Given the description of an element on the screen output the (x, y) to click on. 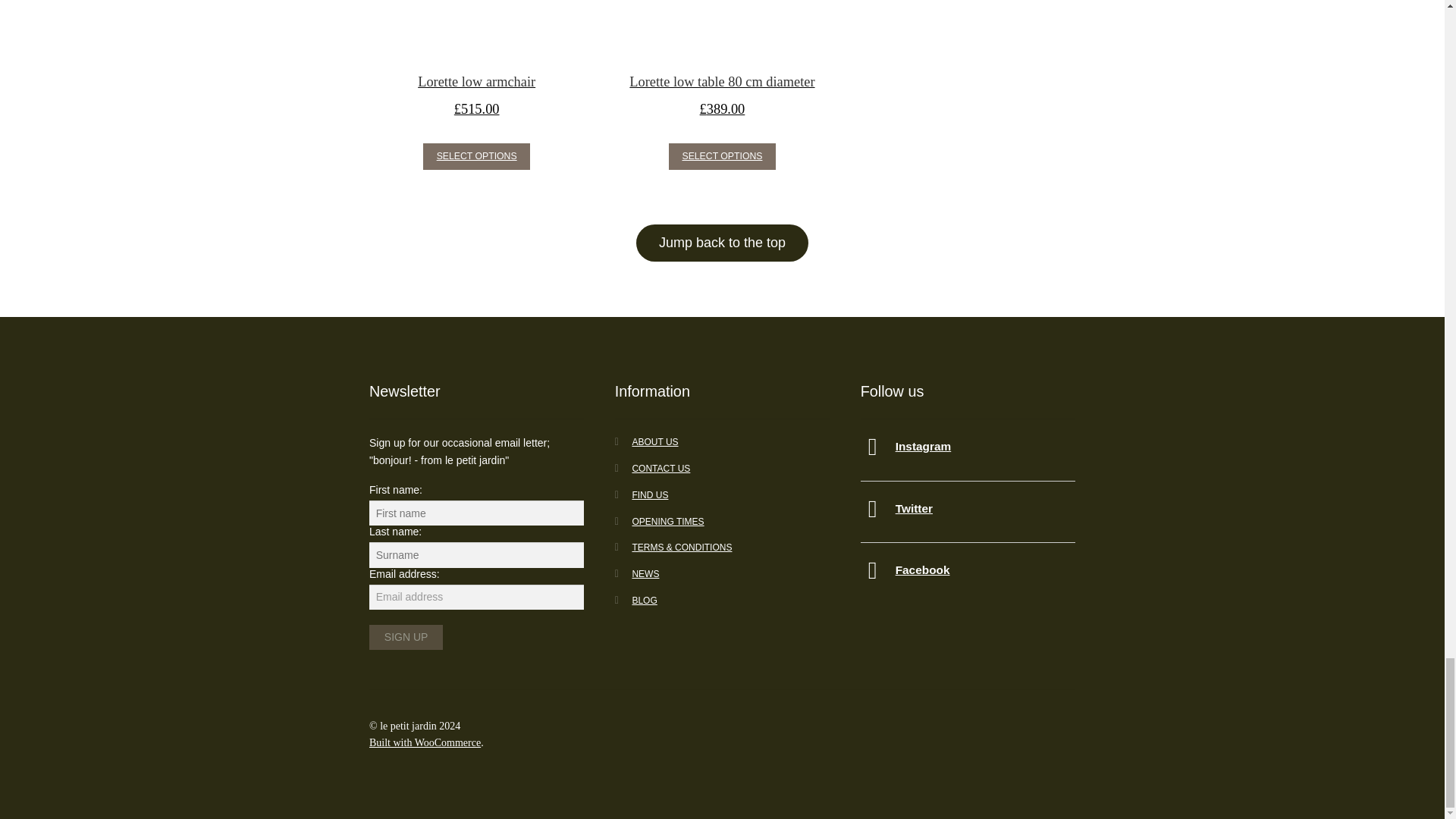
SIGN UP (405, 637)
WooCommerce - The Best eCommerce Platform for WordPress (424, 742)
Minimum qty is 2 (476, 156)
Minimum qty is 2 (722, 156)
